Given the description of an element on the screen output the (x, y) to click on. 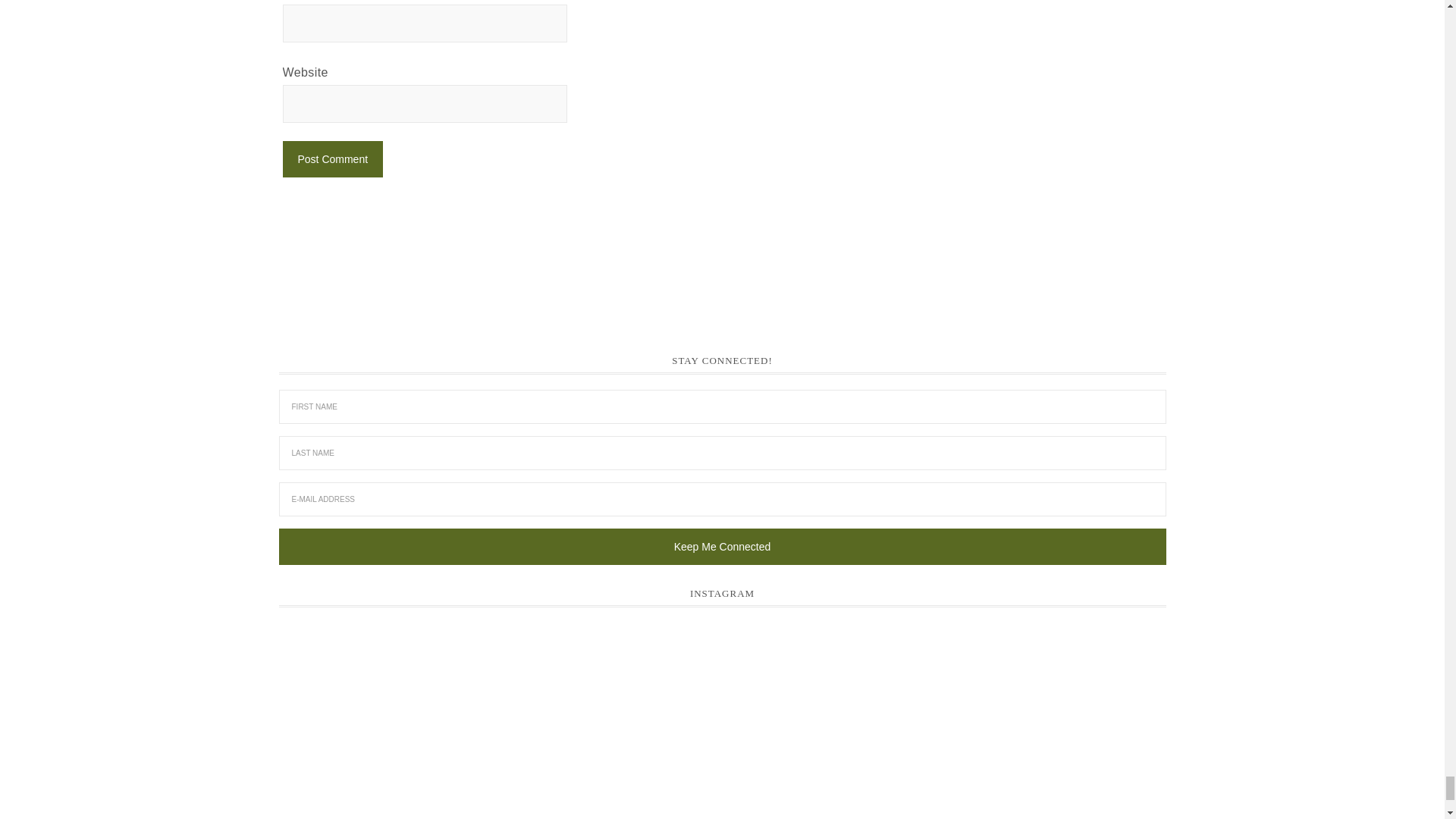
Keep Me Connected (722, 546)
Post Comment (332, 158)
